Given the description of an element on the screen output the (x, y) to click on. 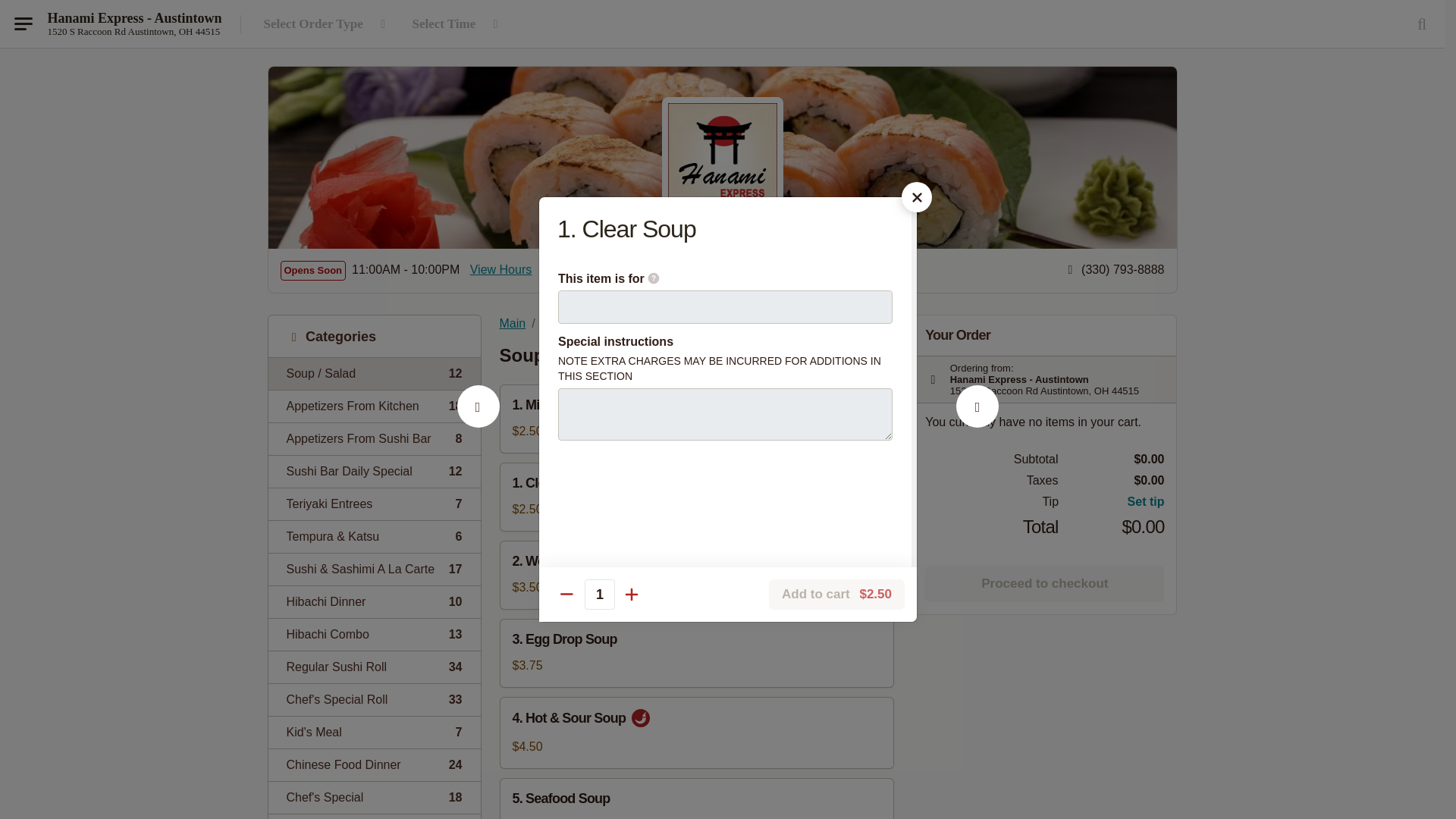
Add tip (1112, 501)
Proceed to checkout (1043, 583)
1520 S Raccoon Rd Austintown, OH 44515 (132, 31)
1 (373, 634)
2. Wonton Soup (599, 594)
Select Order Type (977, 422)
Hanami Express - Austintown (373, 438)
View Hours (327, 23)
